Given the description of an element on the screen output the (x, y) to click on. 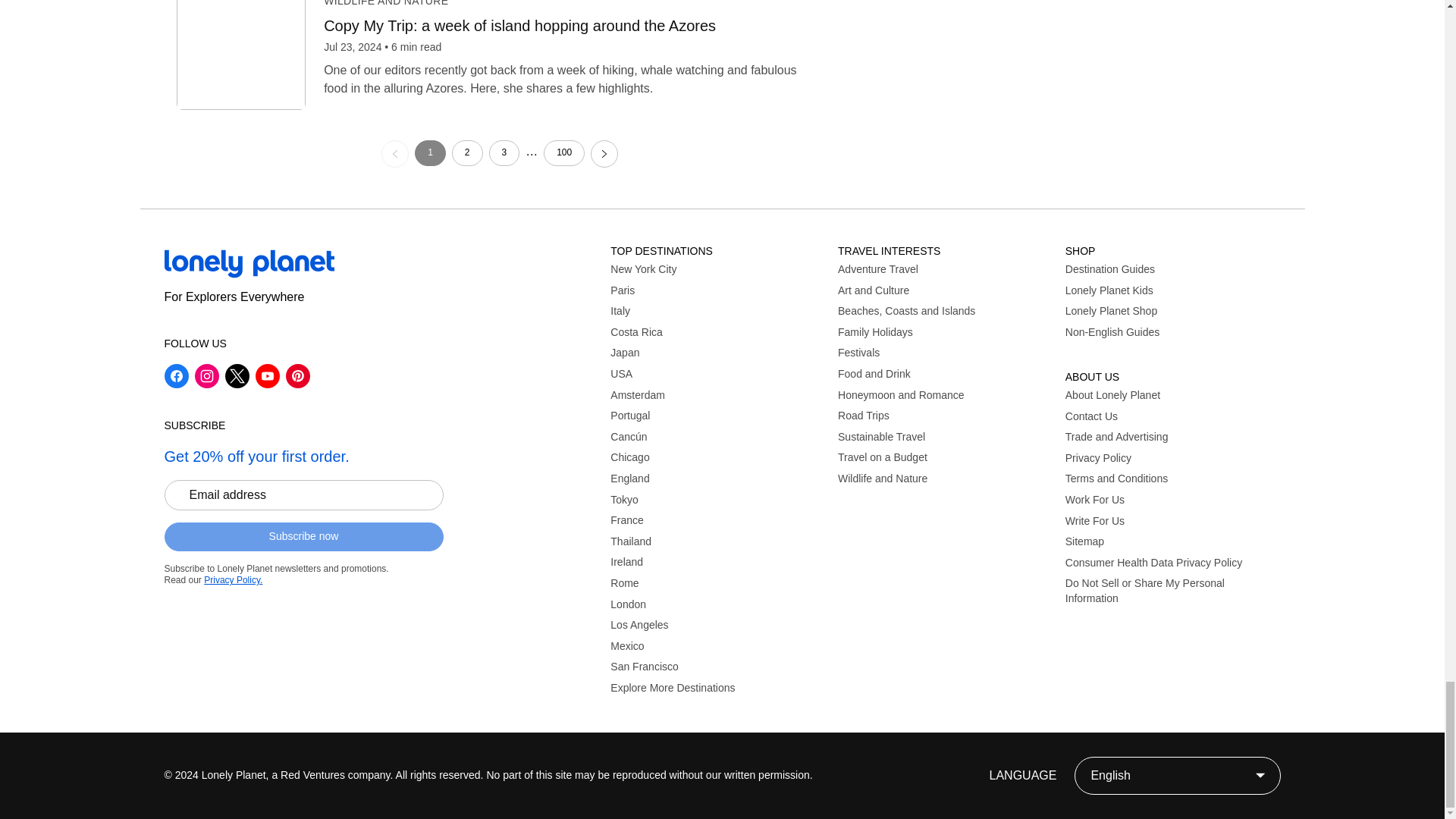
Copy My Trip: a week of island hopping around the Azores (573, 25)
100 (564, 153)
2 (467, 153)
1 (429, 153)
3 (503, 153)
